Given the description of an element on the screen output the (x, y) to click on. 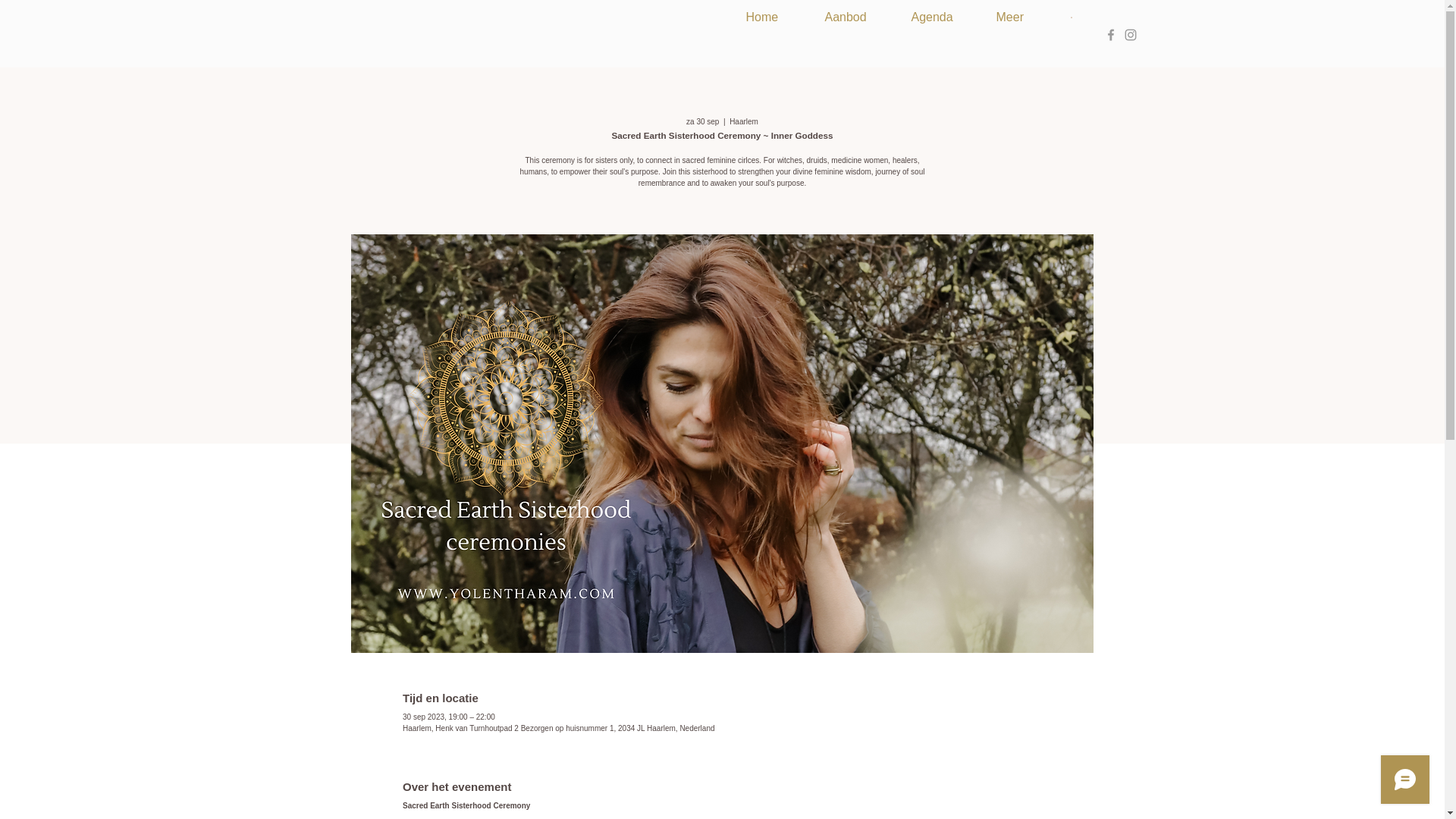
Home (777, 16)
Meer (1025, 16)
Agenda (946, 16)
